Given the description of an element on the screen output the (x, y) to click on. 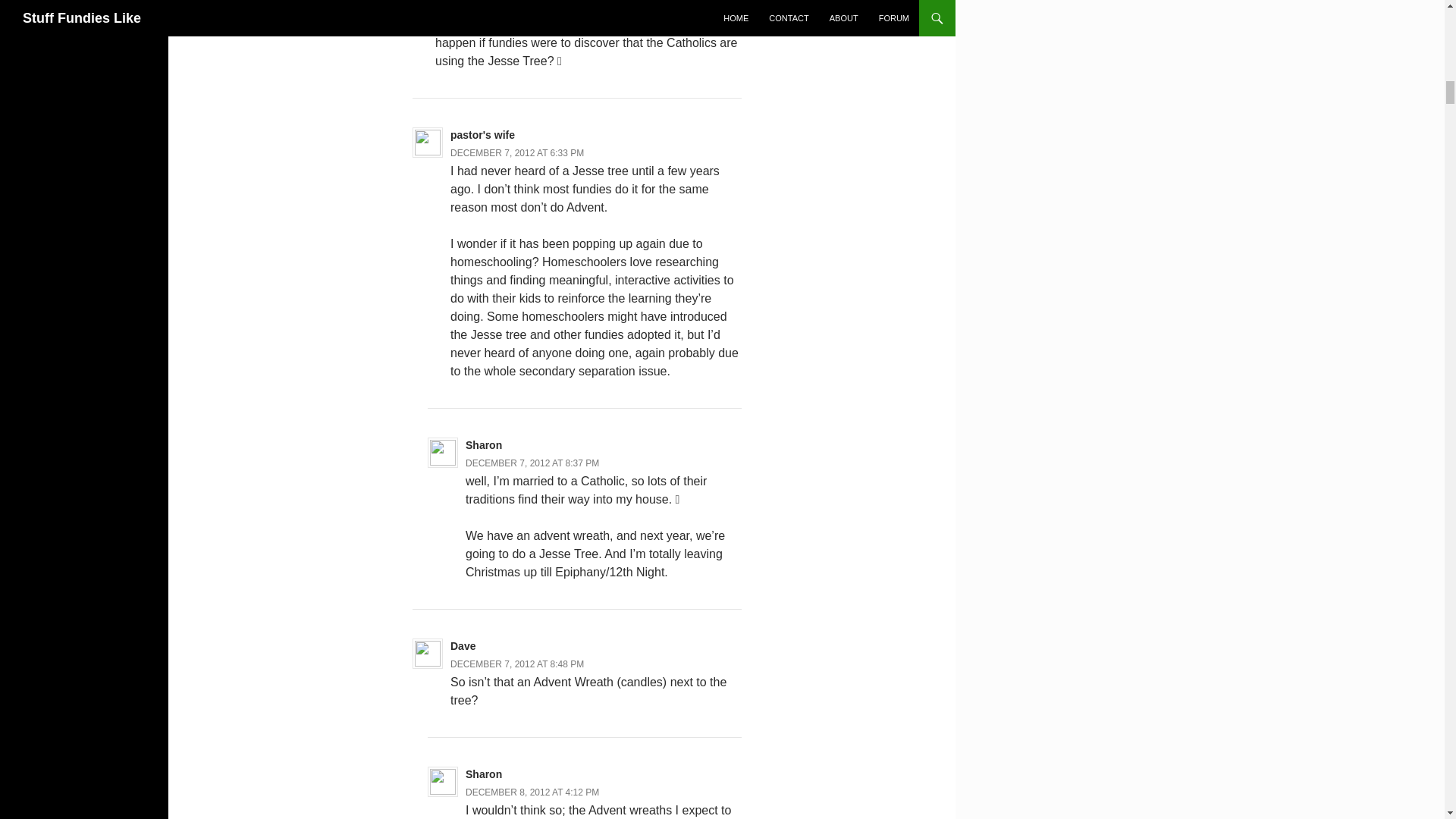
DECEMBER 7, 2012 AT 6:33 PM (516, 153)
DECEMBER 7, 2012 AT 8:48 PM (516, 664)
DECEMBER 8, 2012 AT 4:12 PM (531, 792)
DECEMBER 7, 2012 AT 8:37 PM (531, 462)
